Given the description of an element on the screen output the (x, y) to click on. 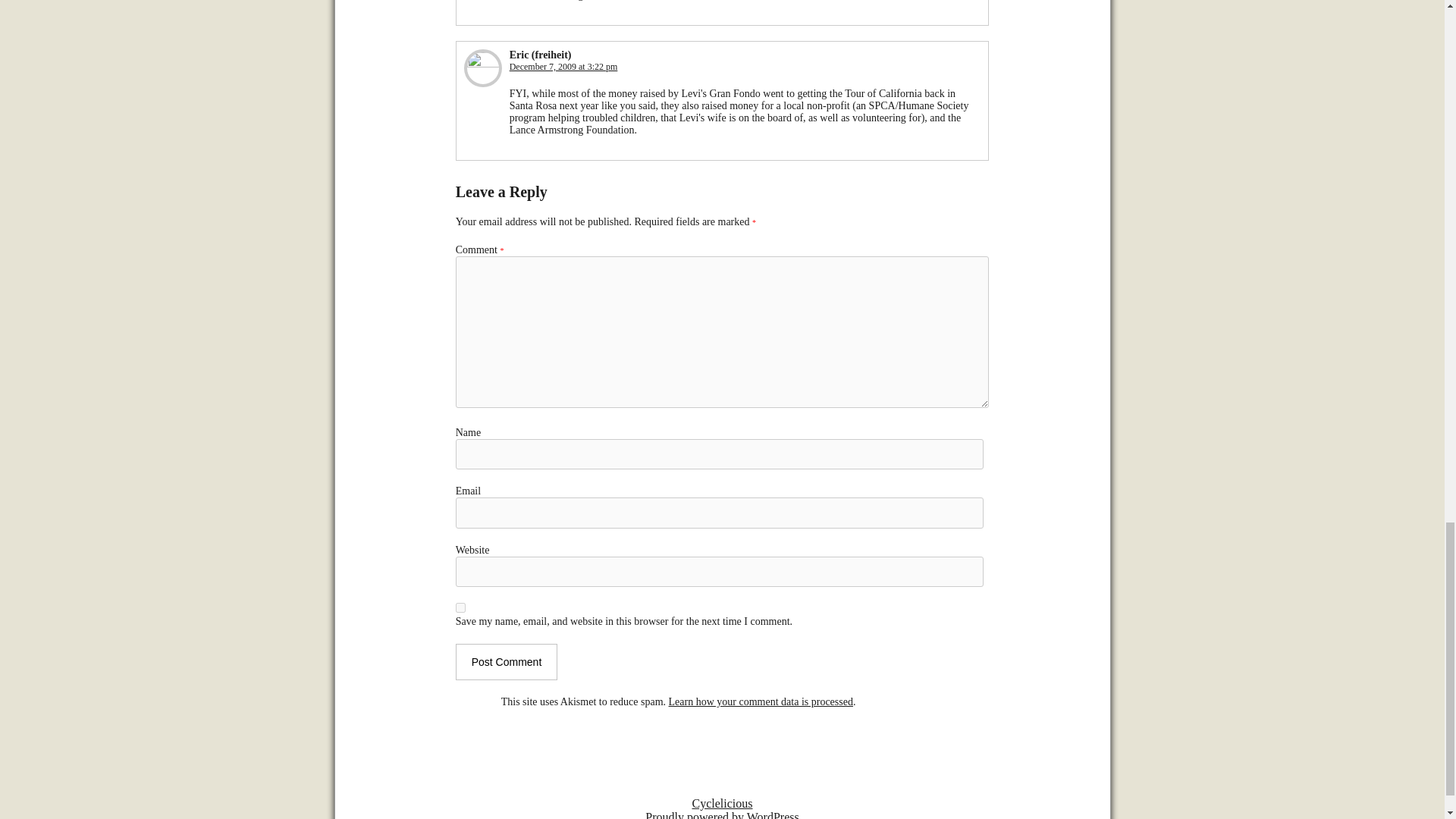
Learn how your comment data is processed (760, 701)
Post Comment (506, 661)
yes (460, 607)
Cyclelicious (721, 802)
December 7, 2009 at 3:22 pm (563, 66)
Post Comment (506, 661)
